Given the description of an element on the screen output the (x, y) to click on. 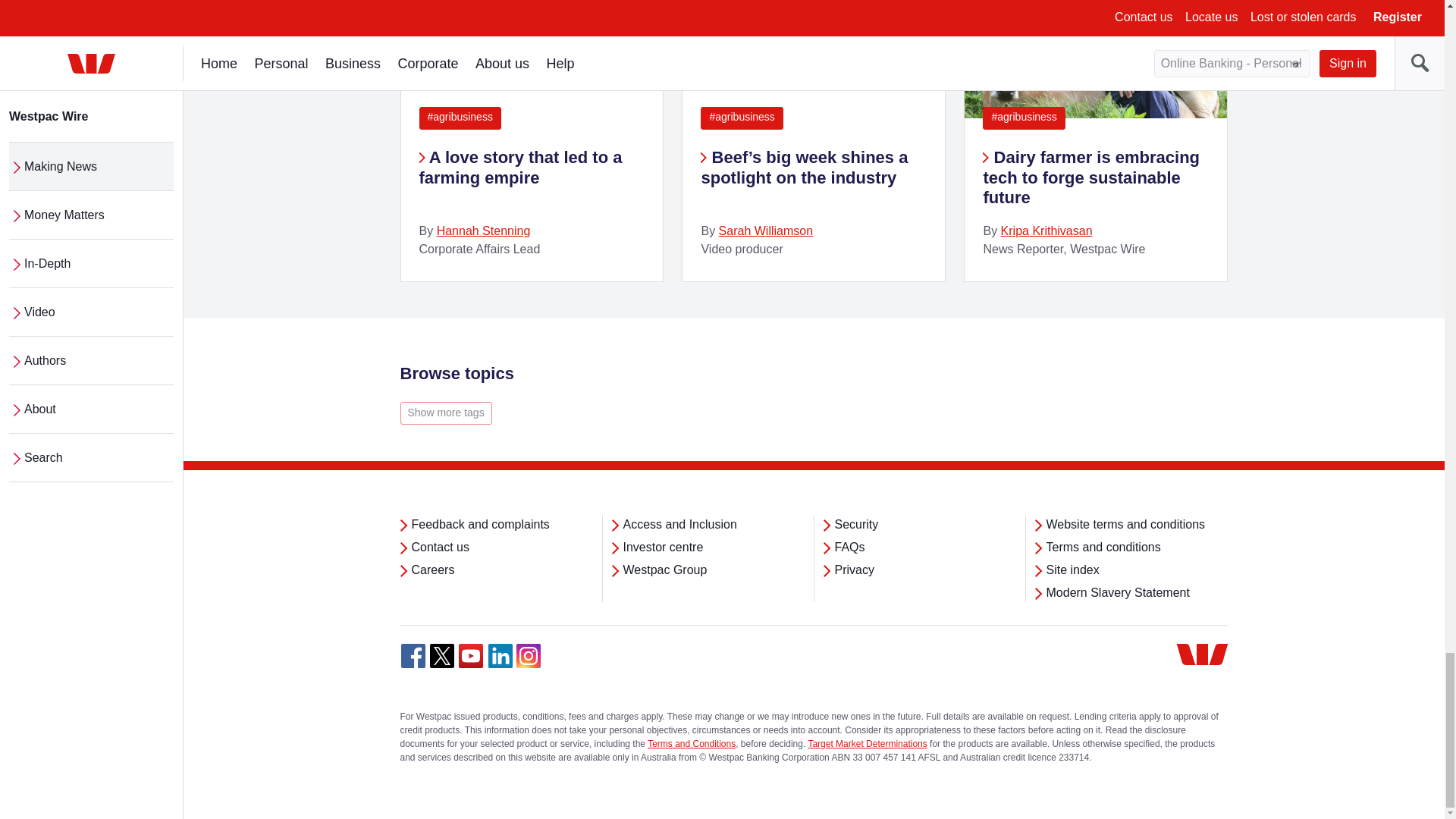
Facebook (412, 655)
Youtube (470, 655)
Instagram (528, 655)
LinkedIn (499, 655)
Twitter (441, 655)
